Given the description of an element on the screen output the (x, y) to click on. 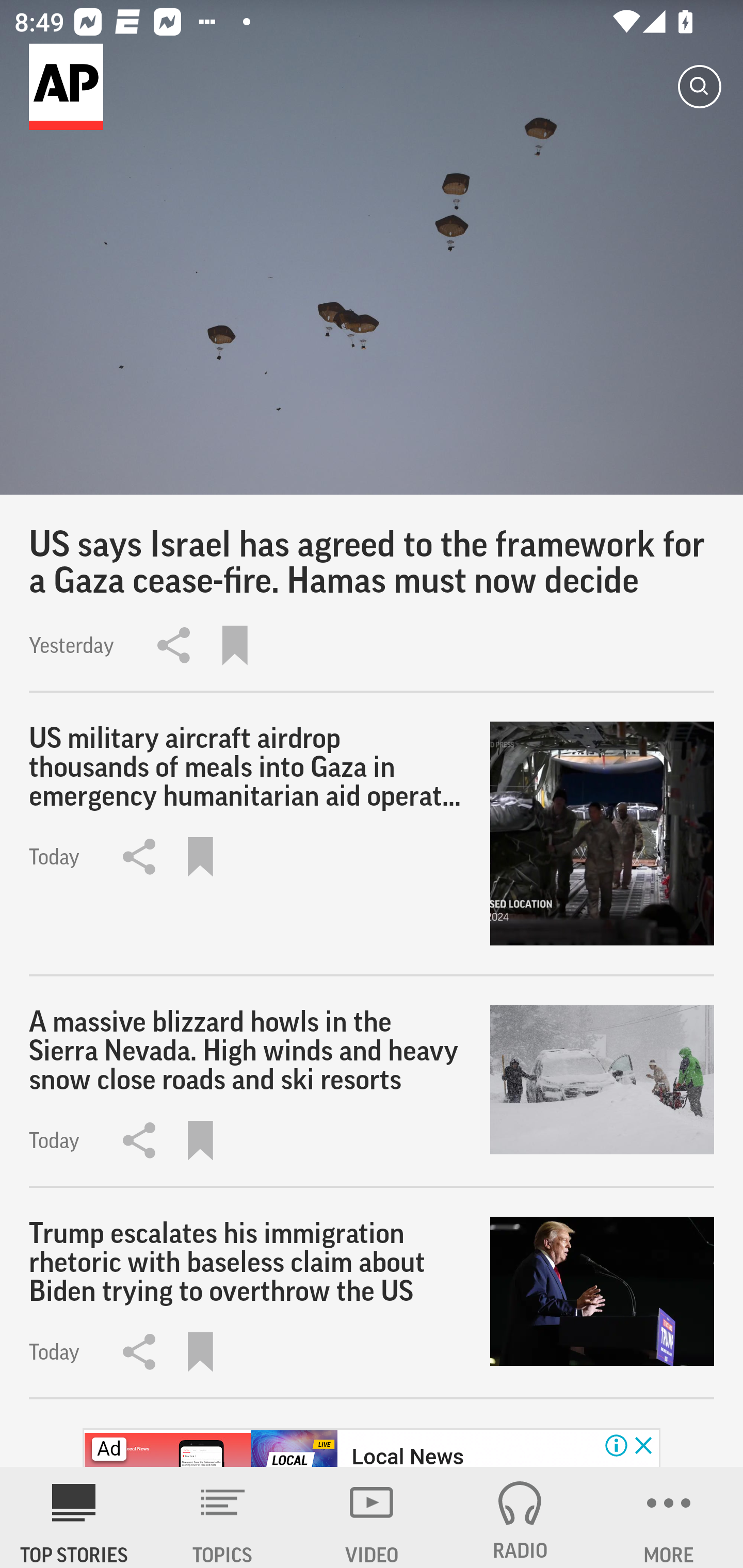
Local News (407, 1454)
AP News TOP STORIES (74, 1517)
TOPICS (222, 1517)
VIDEO (371, 1517)
RADIO (519, 1517)
MORE (668, 1517)
